Given the description of an element on the screen output the (x, y) to click on. 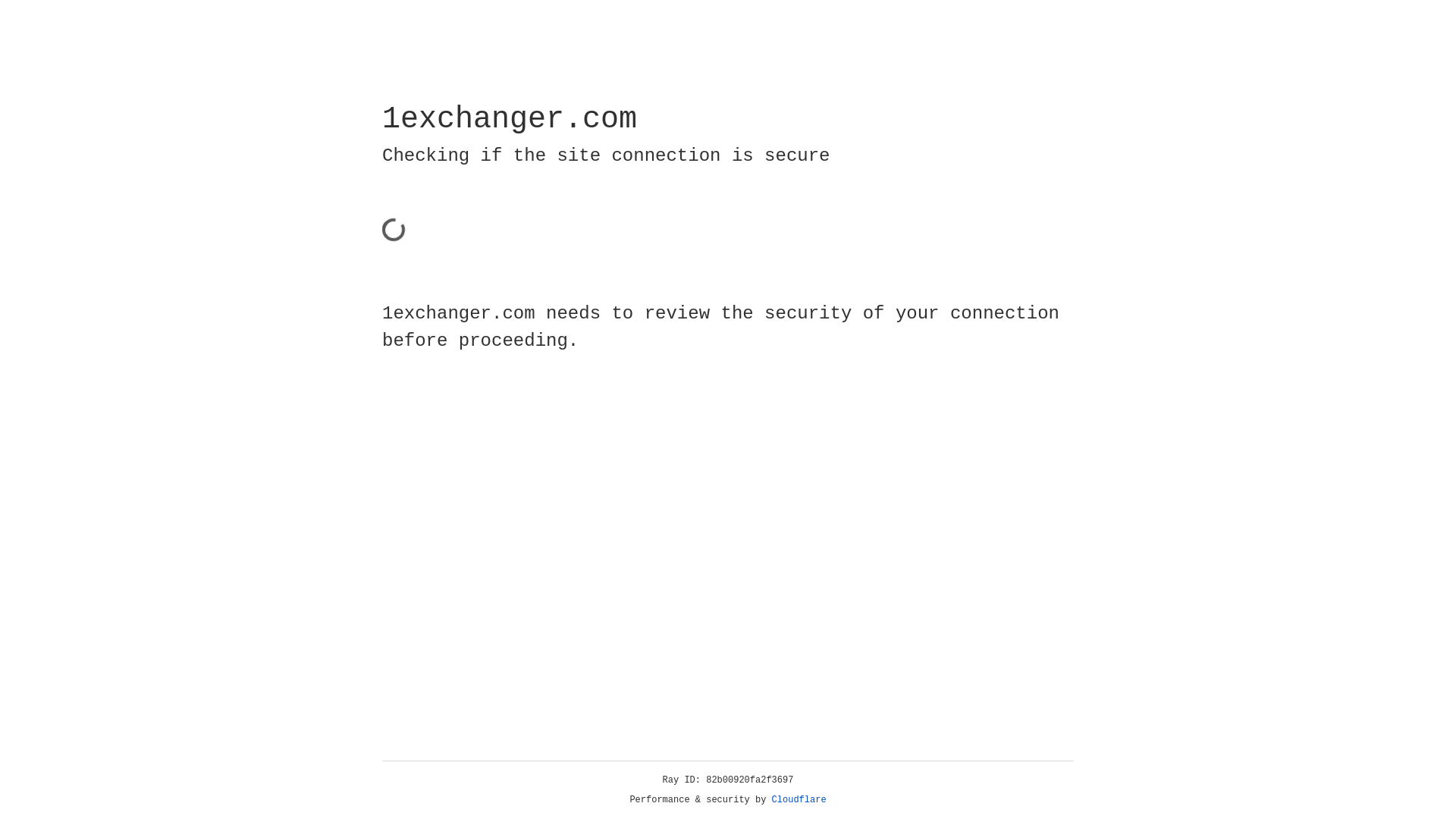
Cloudflare Element type: text (798, 799)
